Given the description of an element on the screen output the (x, y) to click on. 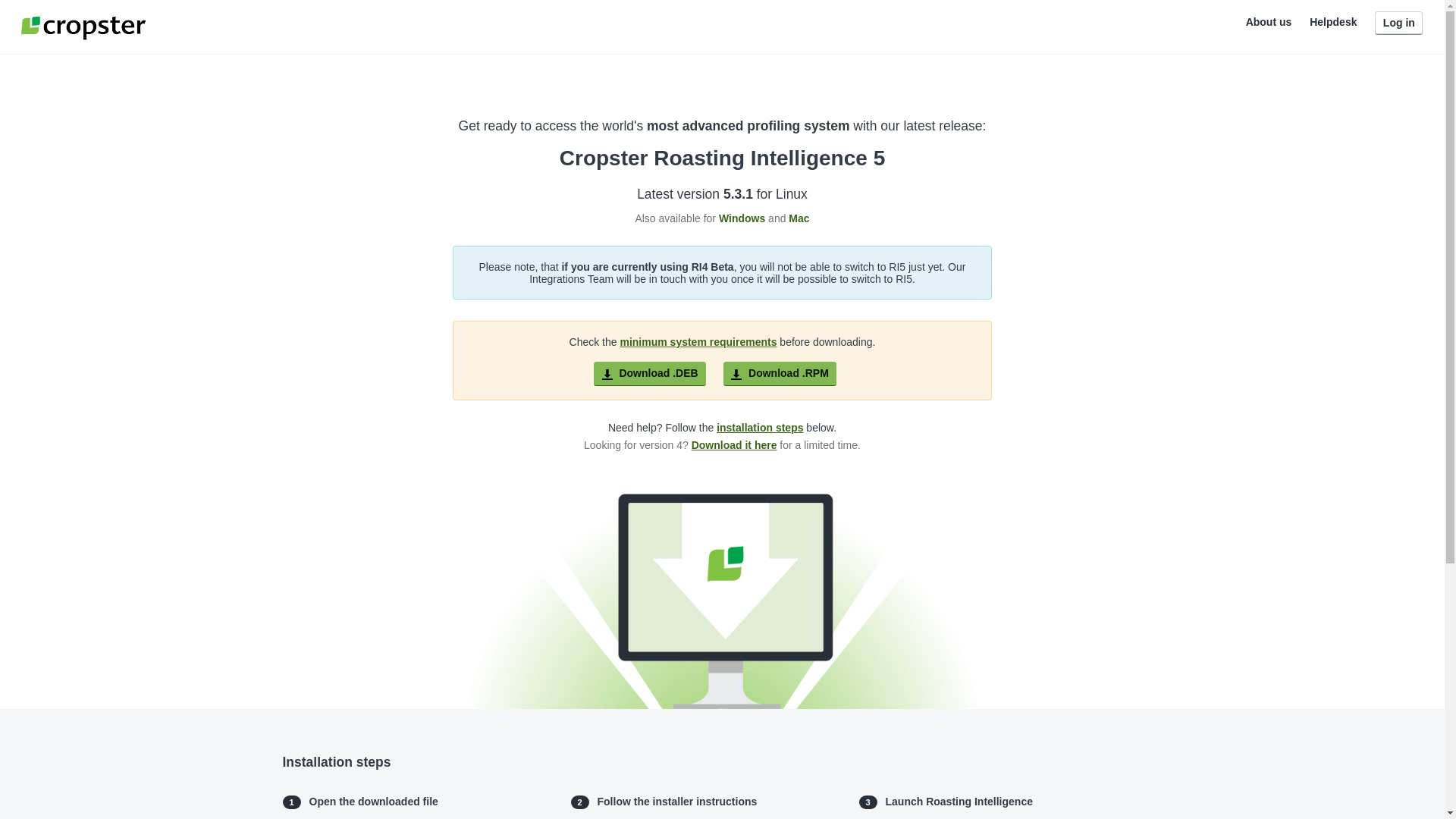
Download .RPM (780, 372)
installation steps (759, 427)
minimum system requirements (698, 341)
Windows (742, 218)
About us (1269, 21)
Download it here (734, 445)
Helpdesk (1332, 21)
Mac (799, 218)
Download .DEB (650, 372)
Log in (1398, 23)
